Given the description of an element on the screen output the (x, y) to click on. 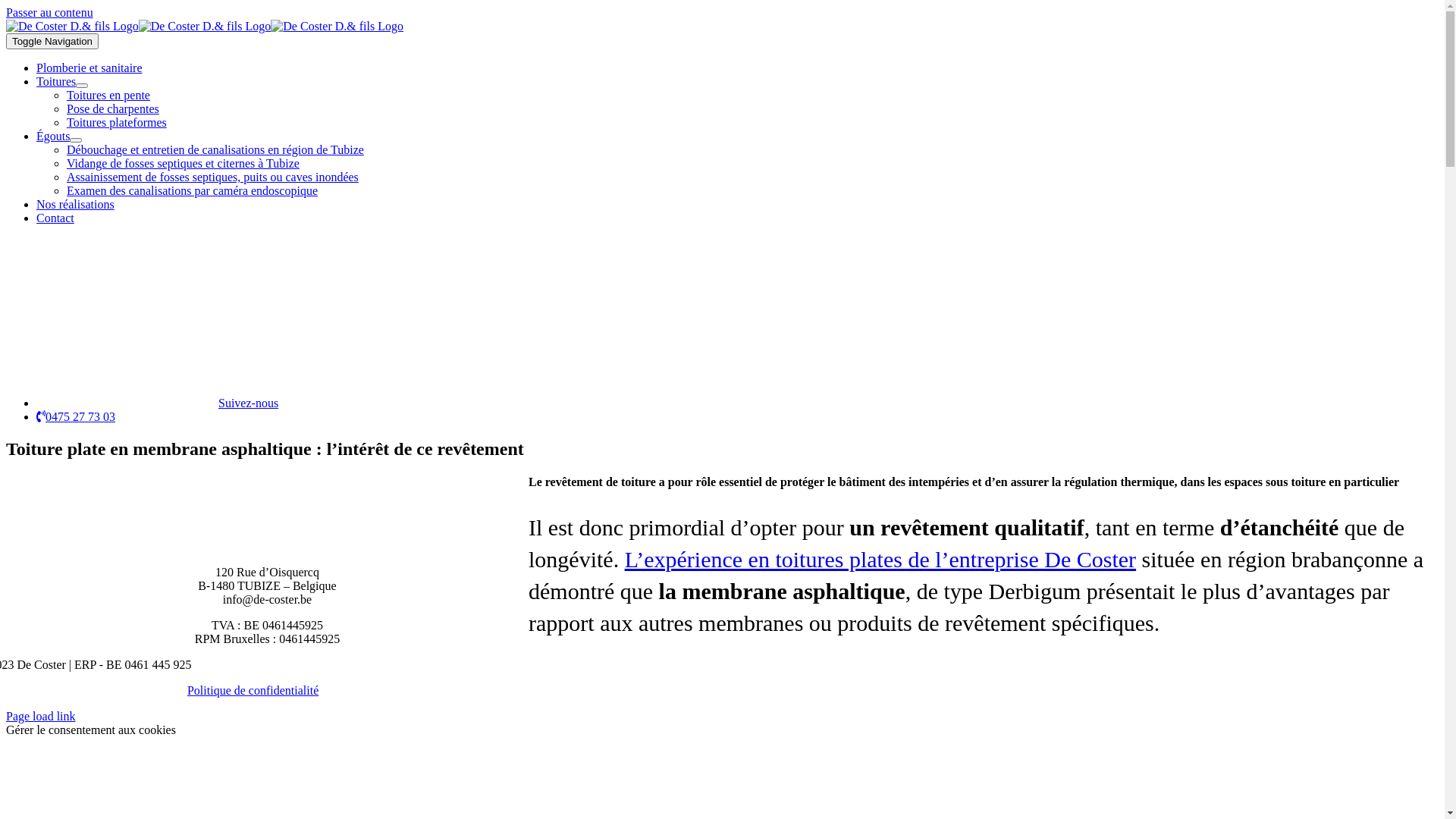
Pose de charpentes Element type: text (112, 108)
Suivez-nous Element type: text (157, 402)
Passer au contenu Element type: text (49, 12)
Page load link Element type: text (40, 715)
fb Element type: hover (127, 316)
Contact Element type: text (55, 217)
Plomberie et sanitaire Element type: text (89, 67)
0475 27 73 03 Element type: text (75, 416)
Toitures en pente Element type: text (108, 94)
Toggle Navigation Element type: text (52, 41)
Toitures plateformes Element type: text (116, 122)
Toitures Element type: text (55, 81)
